Given the description of an element on the screen output the (x, y) to click on. 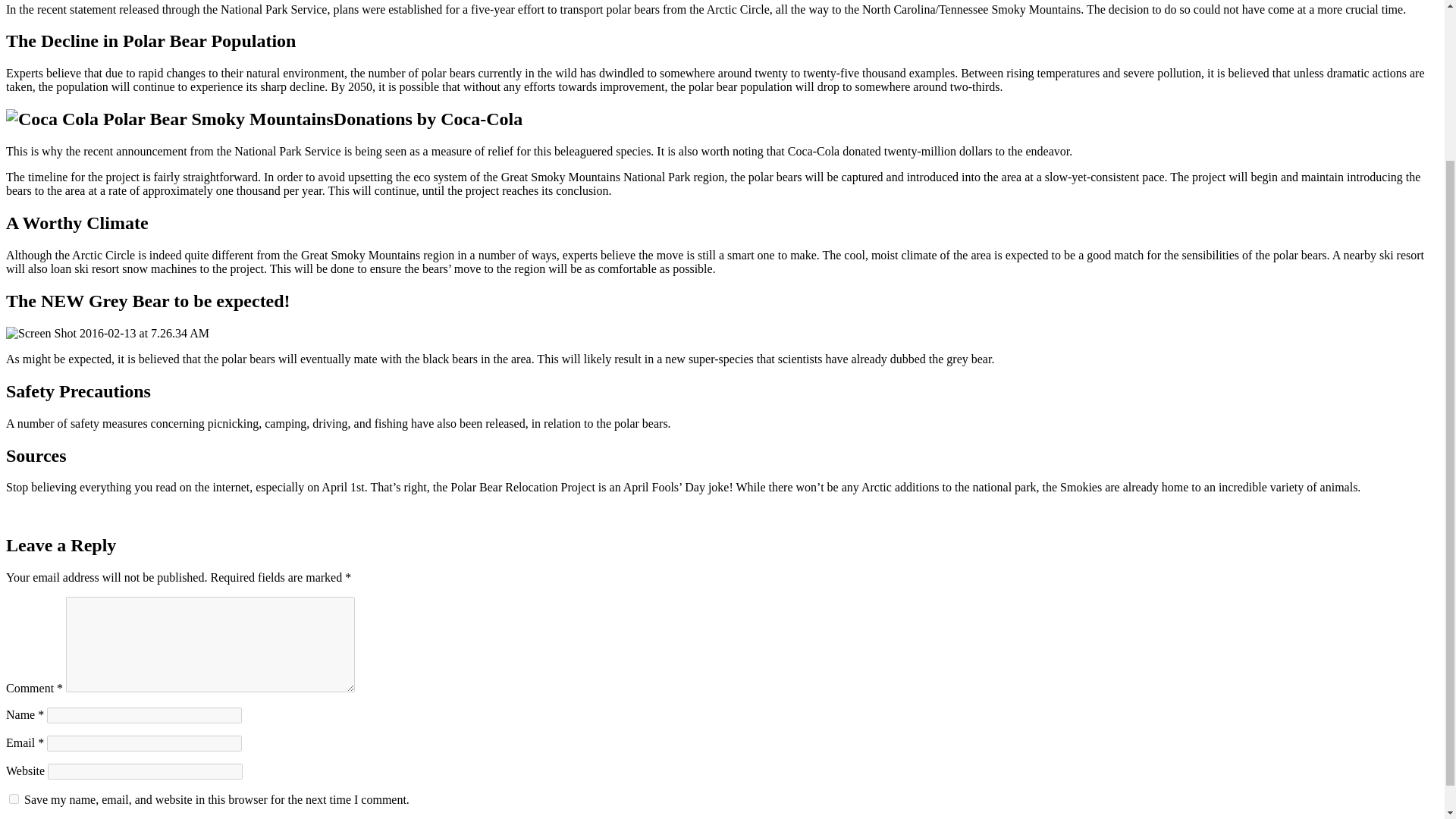
yes (13, 798)
